Given the description of an element on the screen output the (x, y) to click on. 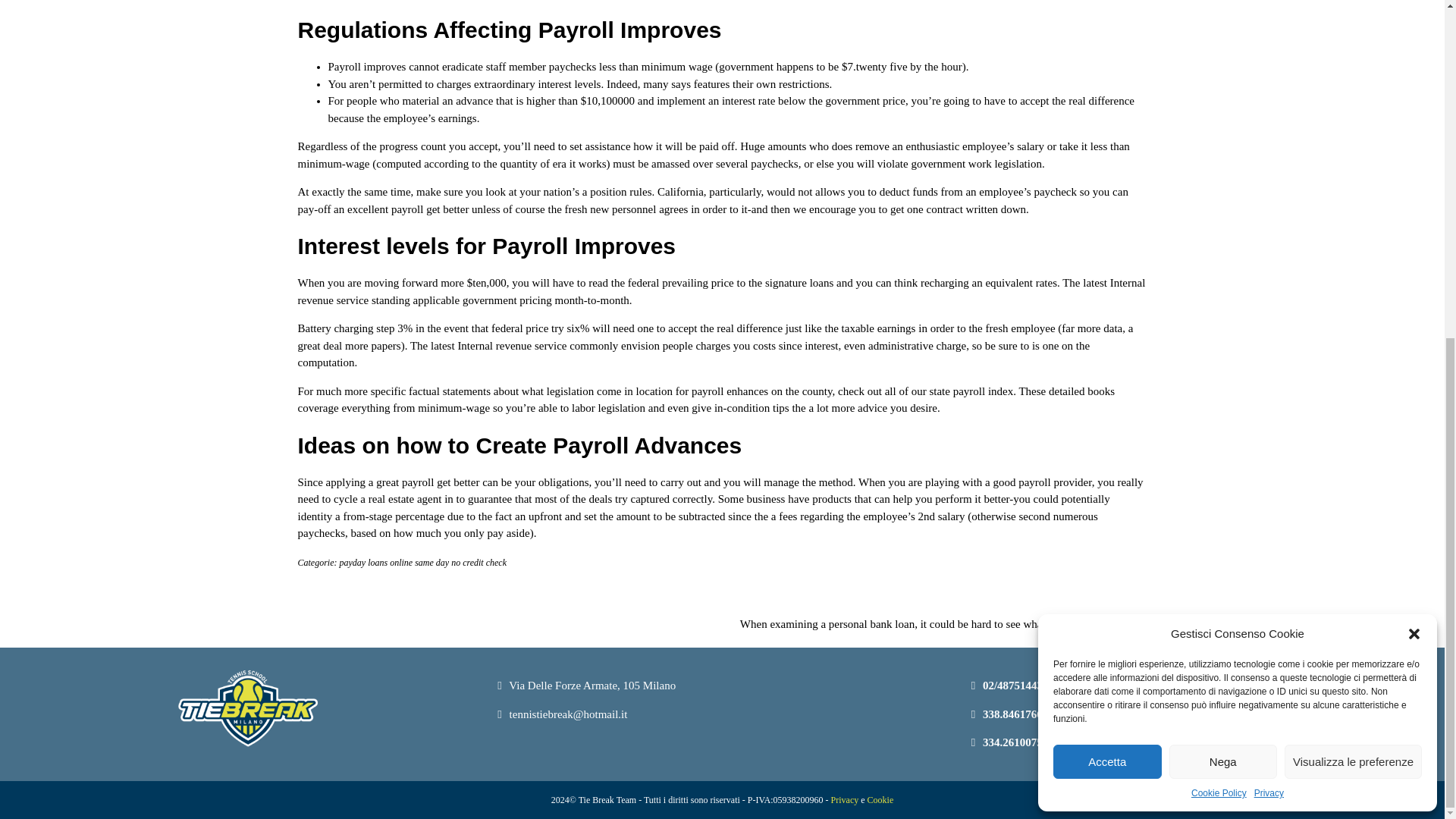
Privacy (1268, 223)
Cookie Policy (1218, 223)
Nega (1223, 191)
Accetta (1106, 191)
Visualizza le preferenze (1353, 191)
